Given the description of an element on the screen output the (x, y) to click on. 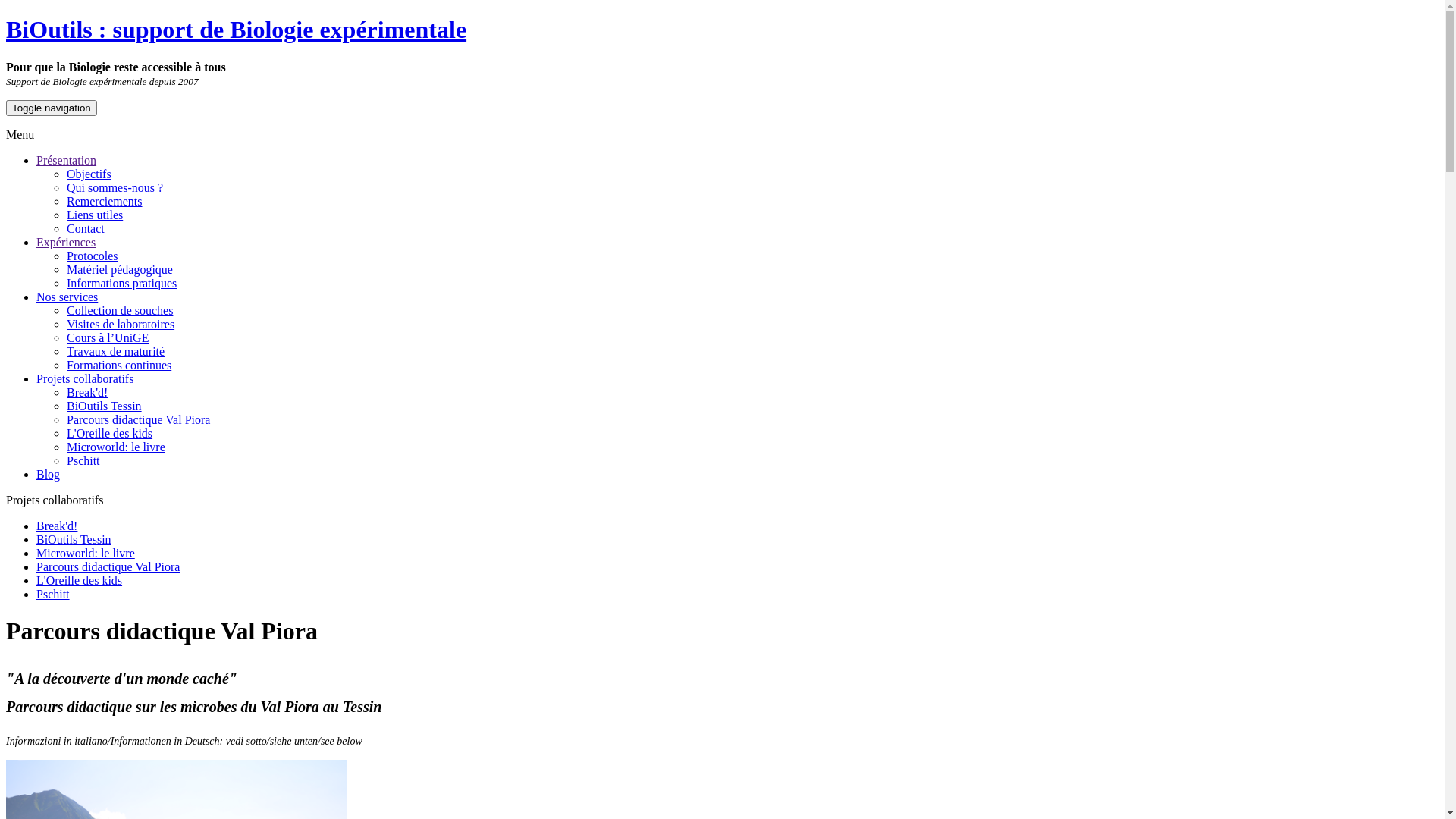
Toggle navigation Element type: text (51, 108)
Visites de laboratoires Element type: text (120, 323)
Informations pratiques Element type: text (121, 282)
Microworld: le livre Element type: text (85, 552)
Collection de souches Element type: text (119, 310)
Pschitt Element type: text (83, 460)
Objectifs Element type: text (88, 173)
Qui sommes-nous ? Element type: text (114, 187)
L'Oreille des kids Element type: text (79, 580)
L'Oreille des kids Element type: text (109, 432)
Microworld: le livre Element type: text (115, 446)
Parcours didactique Val Piora Element type: text (138, 419)
Remerciements Element type: text (104, 200)
Pschitt Element type: text (52, 593)
Liens utiles Element type: text (94, 214)
Break'd! Element type: text (86, 391)
Blog Element type: text (47, 473)
BiOutils Tessin Element type: text (73, 539)
Formations continues Element type: text (118, 364)
Nos services Element type: text (66, 296)
Parcours didactique Val Piora Element type: text (107, 566)
Break'd! Element type: text (56, 525)
Protocoles Element type: text (92, 255)
Projets collaboratifs Element type: text (84, 378)
Contact Element type: text (85, 228)
BiOutils Tessin Element type: text (103, 405)
